Given the description of an element on the screen output the (x, y) to click on. 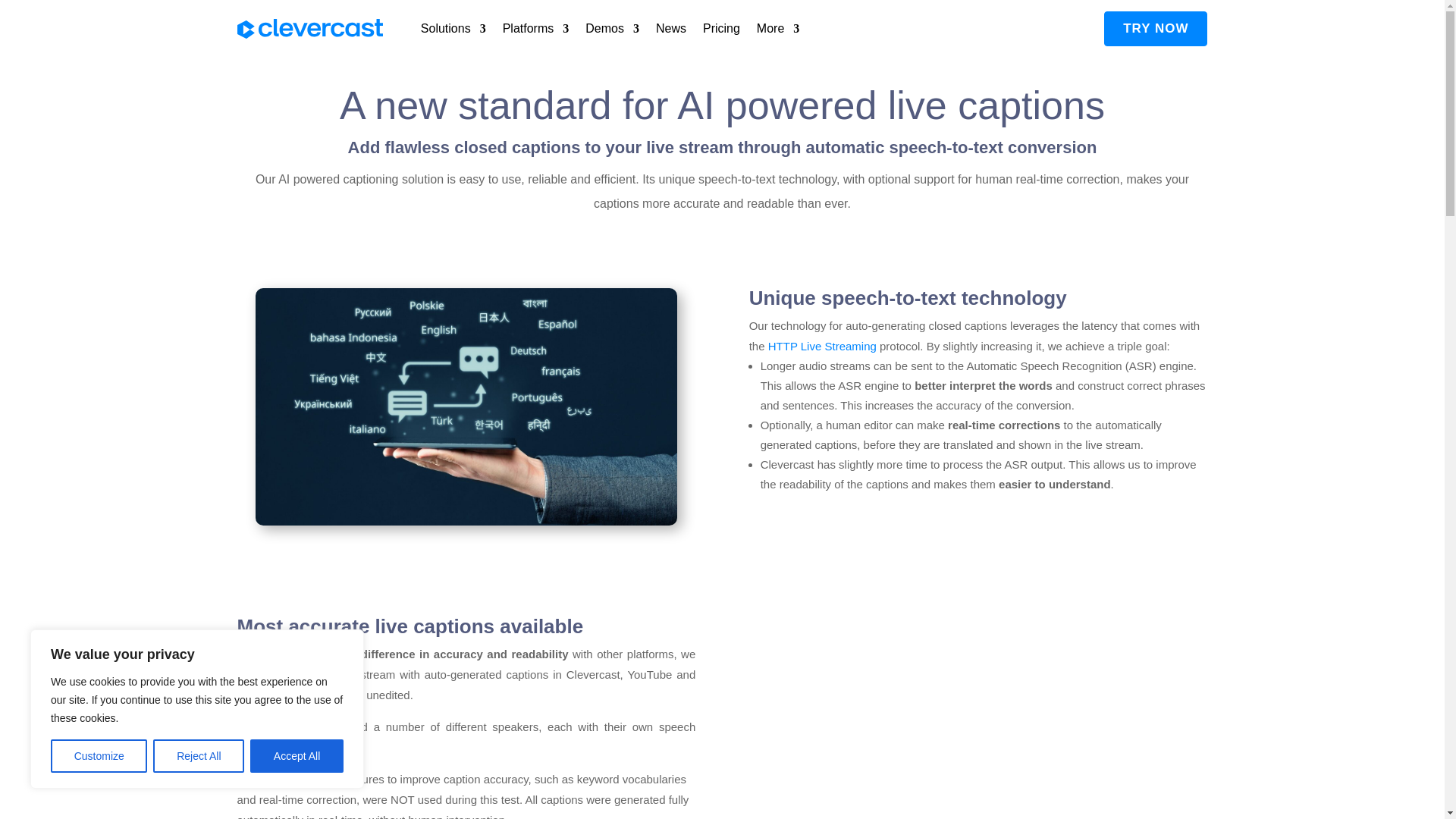
Platforms (535, 28)
Solutions (453, 28)
Reject All (198, 756)
Accept All (296, 756)
closed-captions-live-speech-to-text-technology-scaled (466, 406)
Customize (98, 756)
Demos (612, 28)
